Given the description of an element on the screen output the (x, y) to click on. 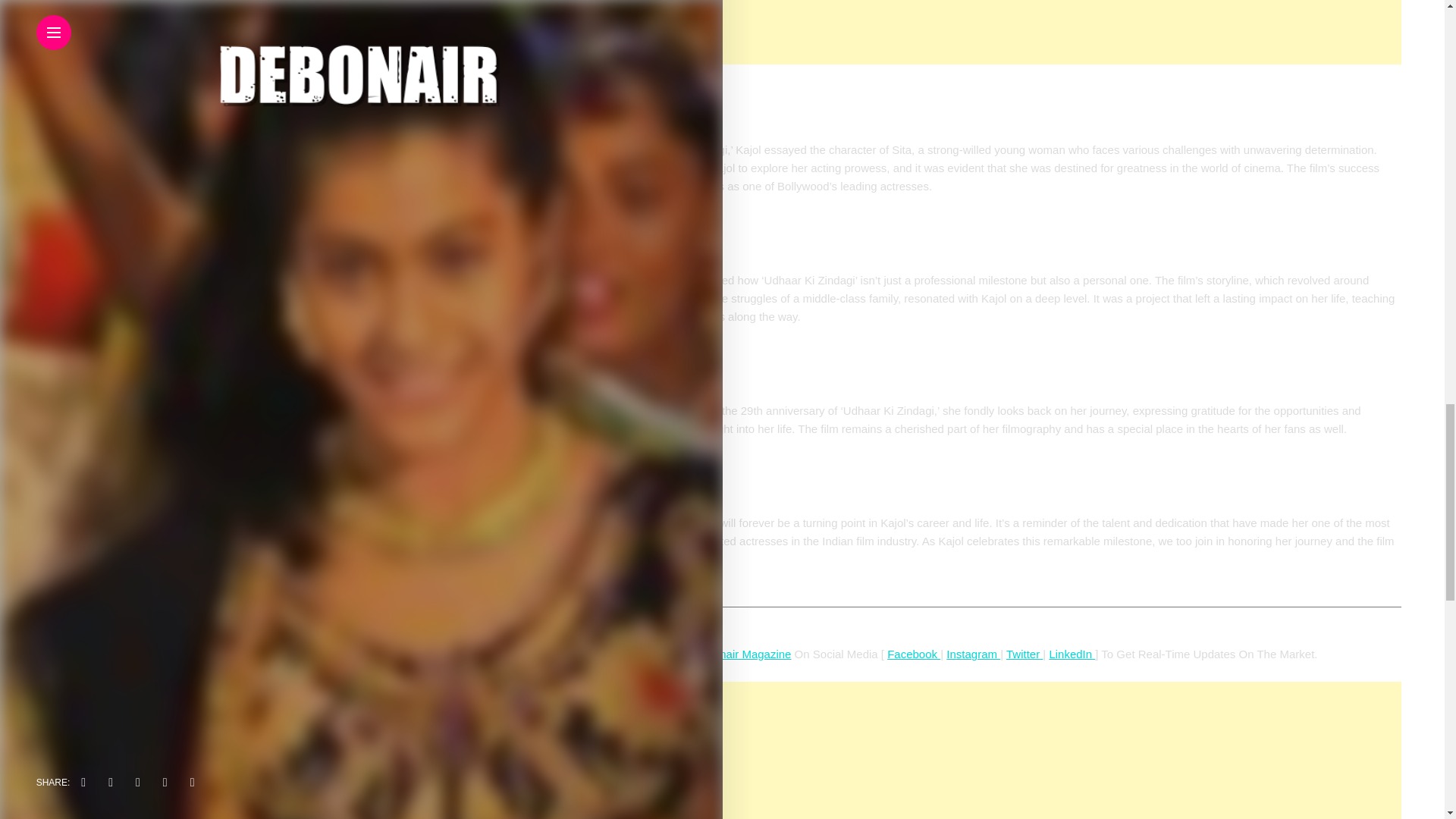
LinkedIn (1070, 653)
Advertisement (946, 32)
Twitter (1022, 653)
Facebook  (913, 653)
Advertisement (946, 750)
Instagram  (973, 653)
Debonair Magazine (741, 653)
